Given the description of an element on the screen output the (x, y) to click on. 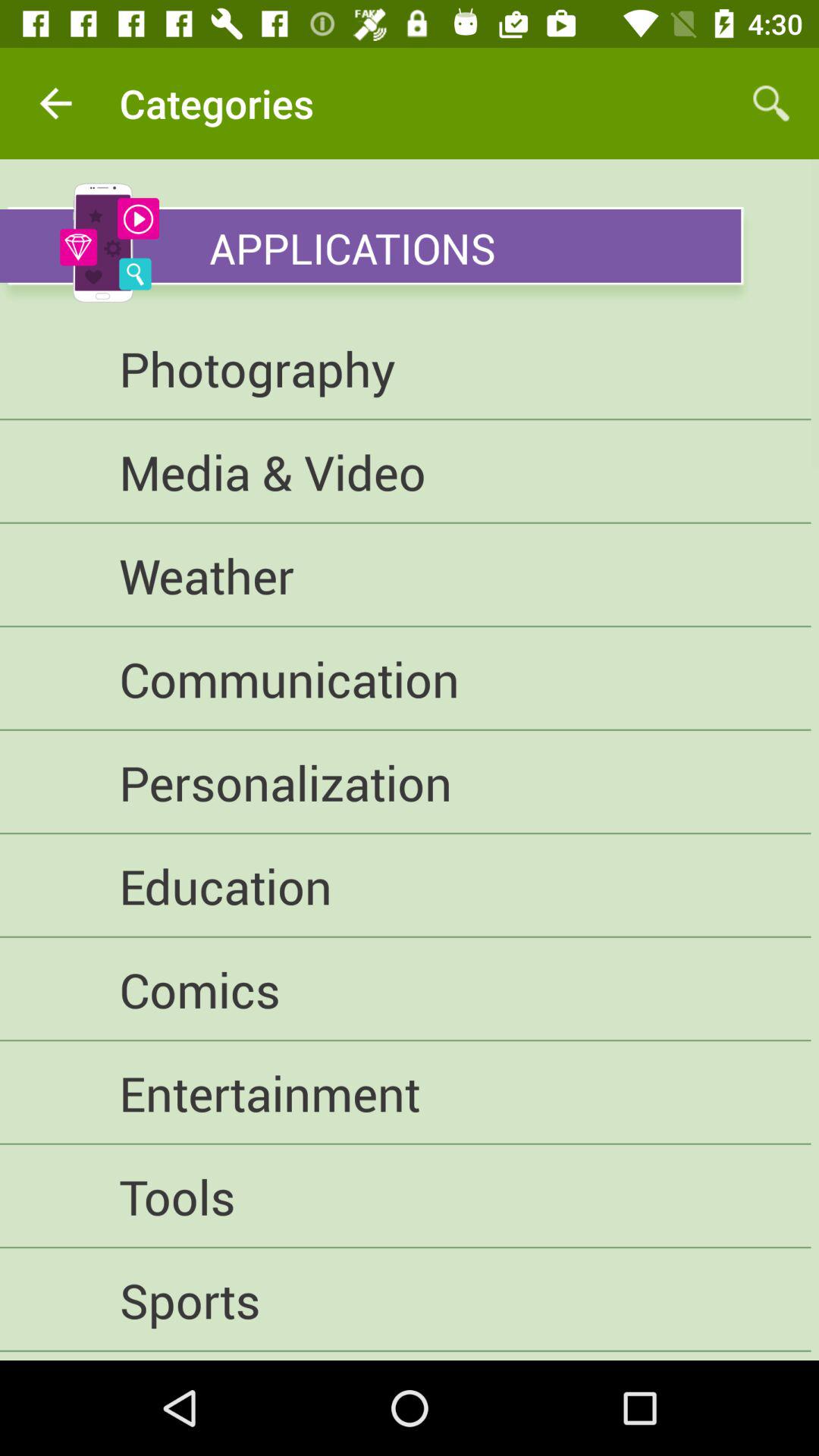
launch applications icon (460, 237)
